Given the description of an element on the screen output the (x, y) to click on. 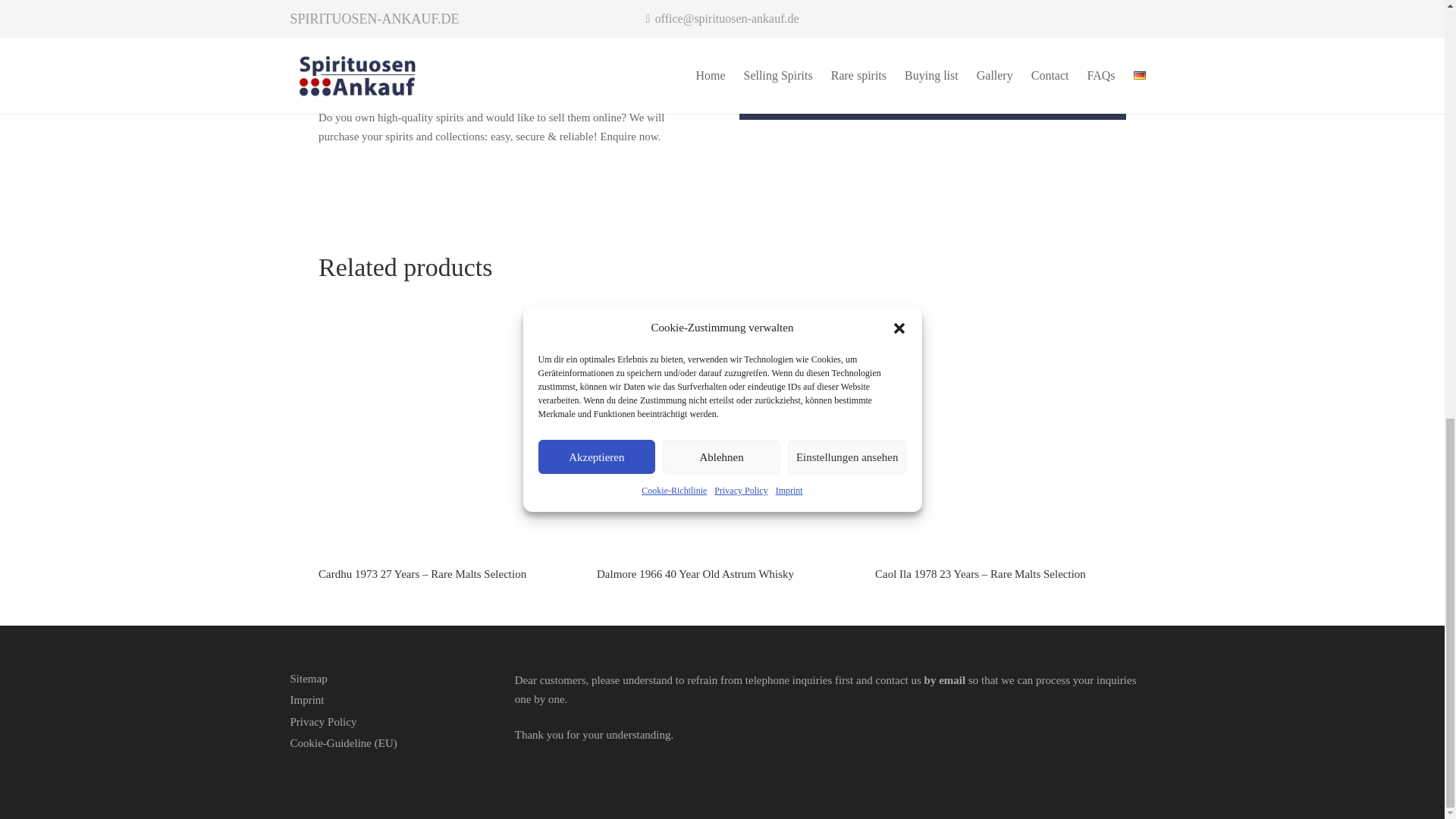
Ihre Anfrage (932, 89)
Back to top (1413, 3)
